Given the description of an element on the screen output the (x, y) to click on. 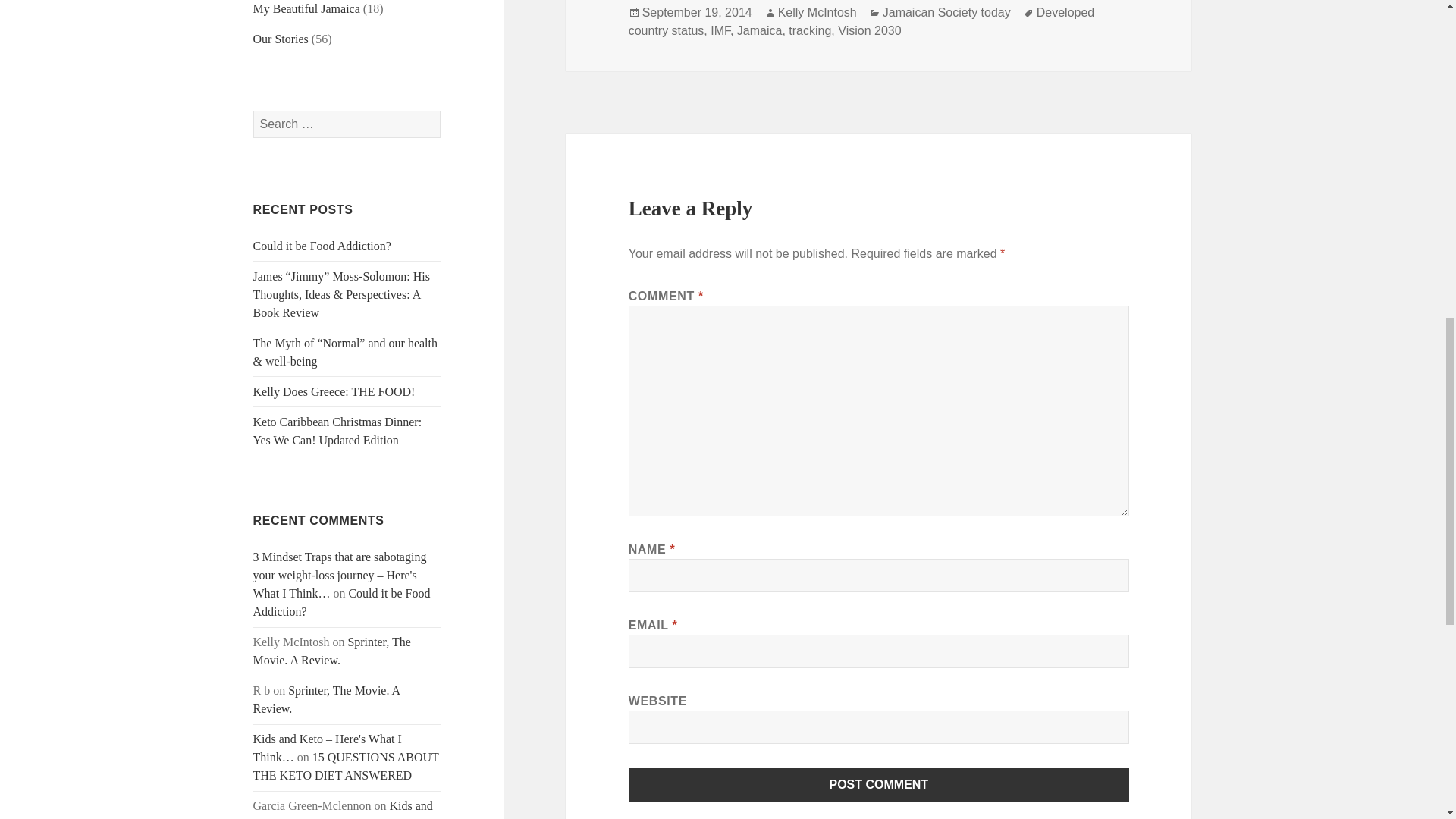
Sprinter, The Movie. A Review. (331, 650)
September 19, 2014 (697, 12)
My Beautiful Jamaica (306, 8)
Kelly McIntosh (817, 12)
Sprinter, The Movie. A Review. (326, 698)
15 QUESTIONS ABOUT THE KETO DIET ANSWERED (346, 766)
Kelly Does Greece: THE FOOD! (333, 391)
Post Comment (878, 784)
Jamaican Society today (946, 12)
Kids and Keto (342, 809)
